Given the description of an element on the screen output the (x, y) to click on. 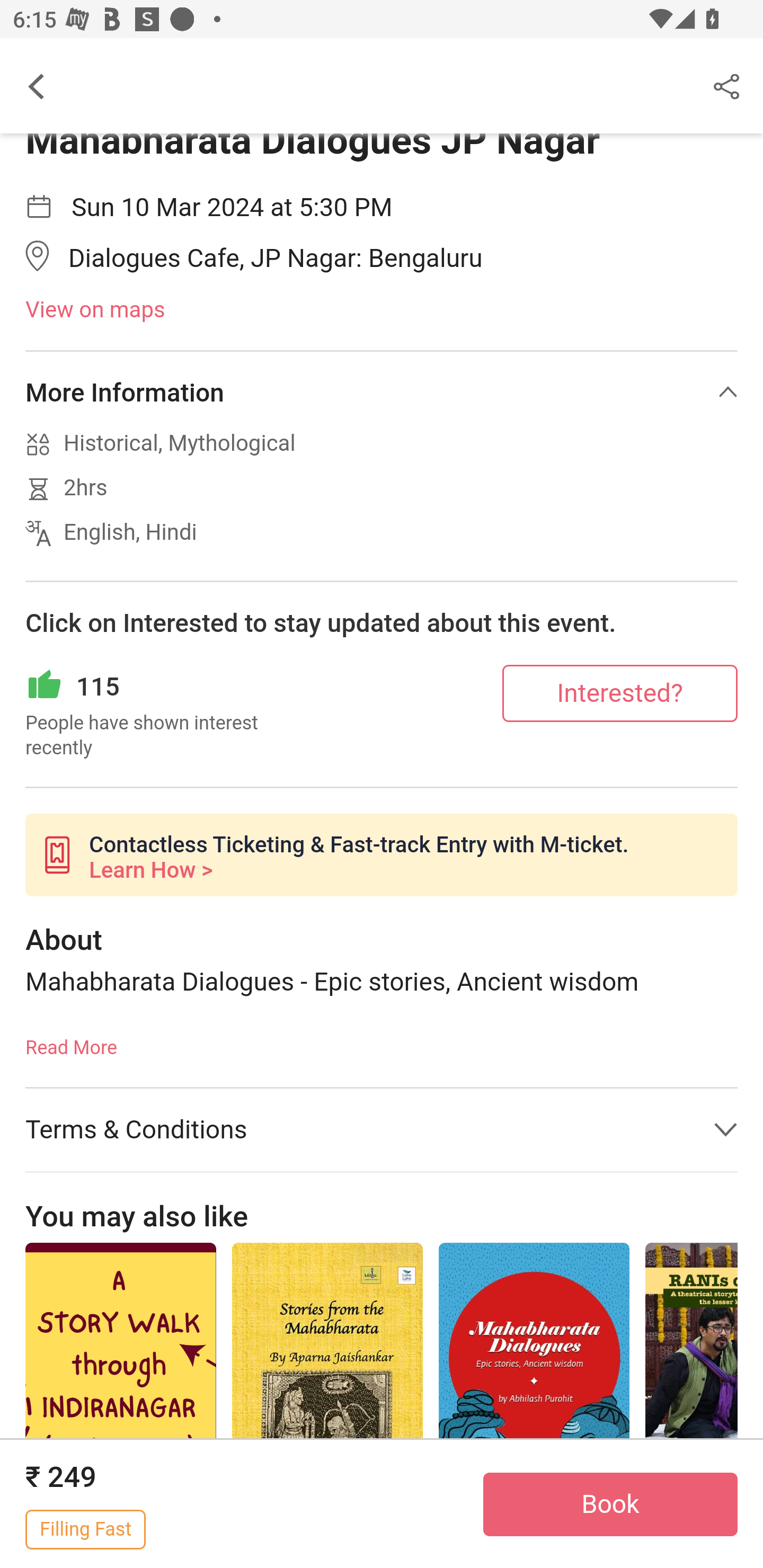
View on maps (381, 311)
More Information (381, 392)
Interested? (619, 693)
Learn How > (150, 871)
Read More (71, 1042)
Terms & Conditions (381, 1130)
A Story walk through INDIRANAGAR (Bangalore) (120, 1405)
Stories For Mahabharat (326, 1386)
Mahabharata Dialogues Koramangala  (533, 1386)
Book (609, 1505)
